Given the description of an element on the screen output the (x, y) to click on. 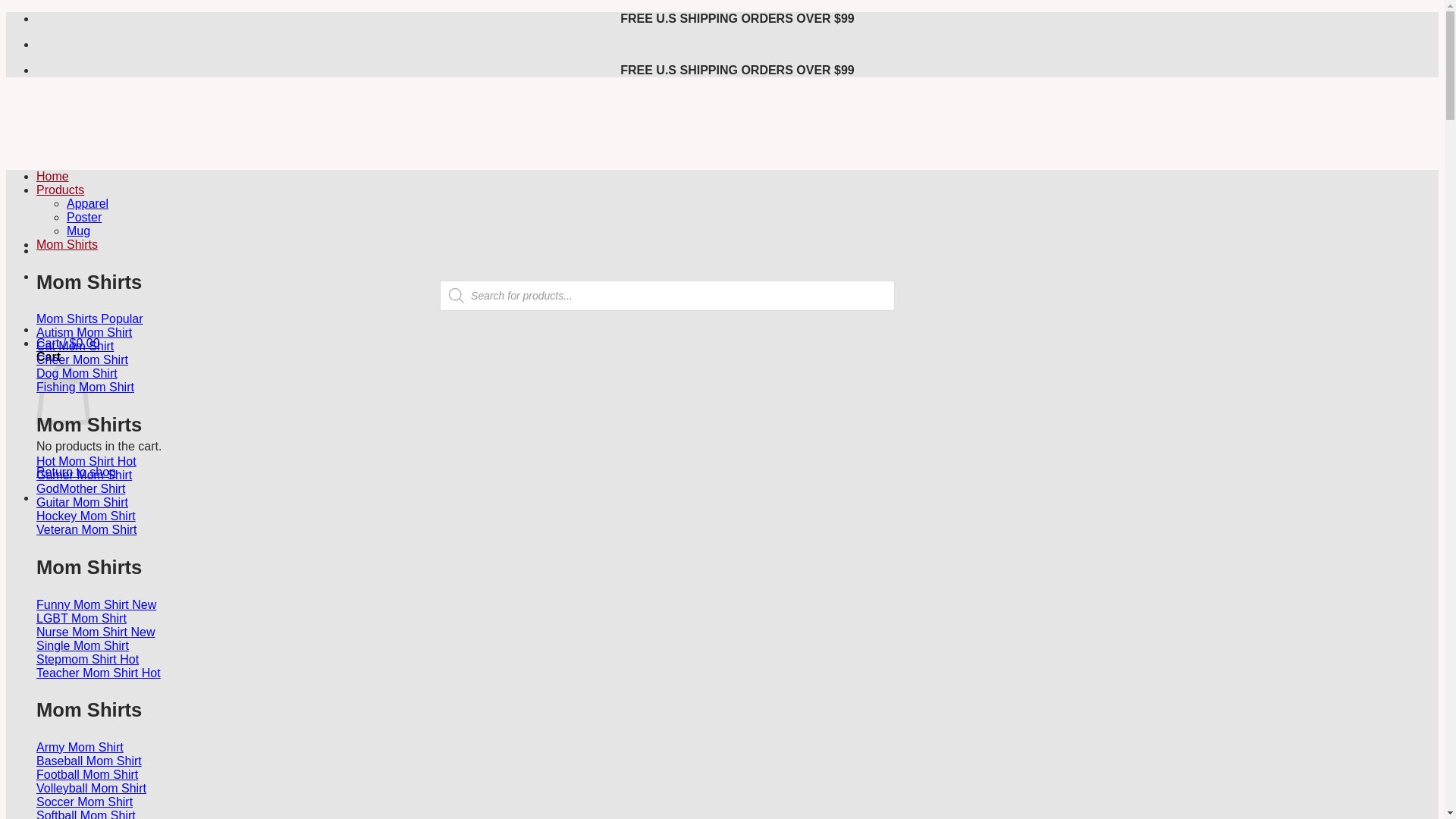
Teacher Mom Shirt (98, 672)
Autism Mom Shirt (84, 332)
Hot Mom Shirt (86, 461)
Cheer Mom Shirt (82, 359)
Army Mom Shirt (79, 747)
Baseball Mom Shirt (88, 760)
Cat Mom Shirt (74, 345)
GodMother Shirt (80, 488)
Stepmom Shirt (87, 658)
Nurse Mom Shirt (95, 631)
Mug (78, 230)
Fishing Mom Shirt (84, 386)
Guitar Mom Shirt (82, 502)
LGBT Mom Shirt (81, 617)
Hockey Mom Shirt (85, 515)
